Given the description of an element on the screen output the (x, y) to click on. 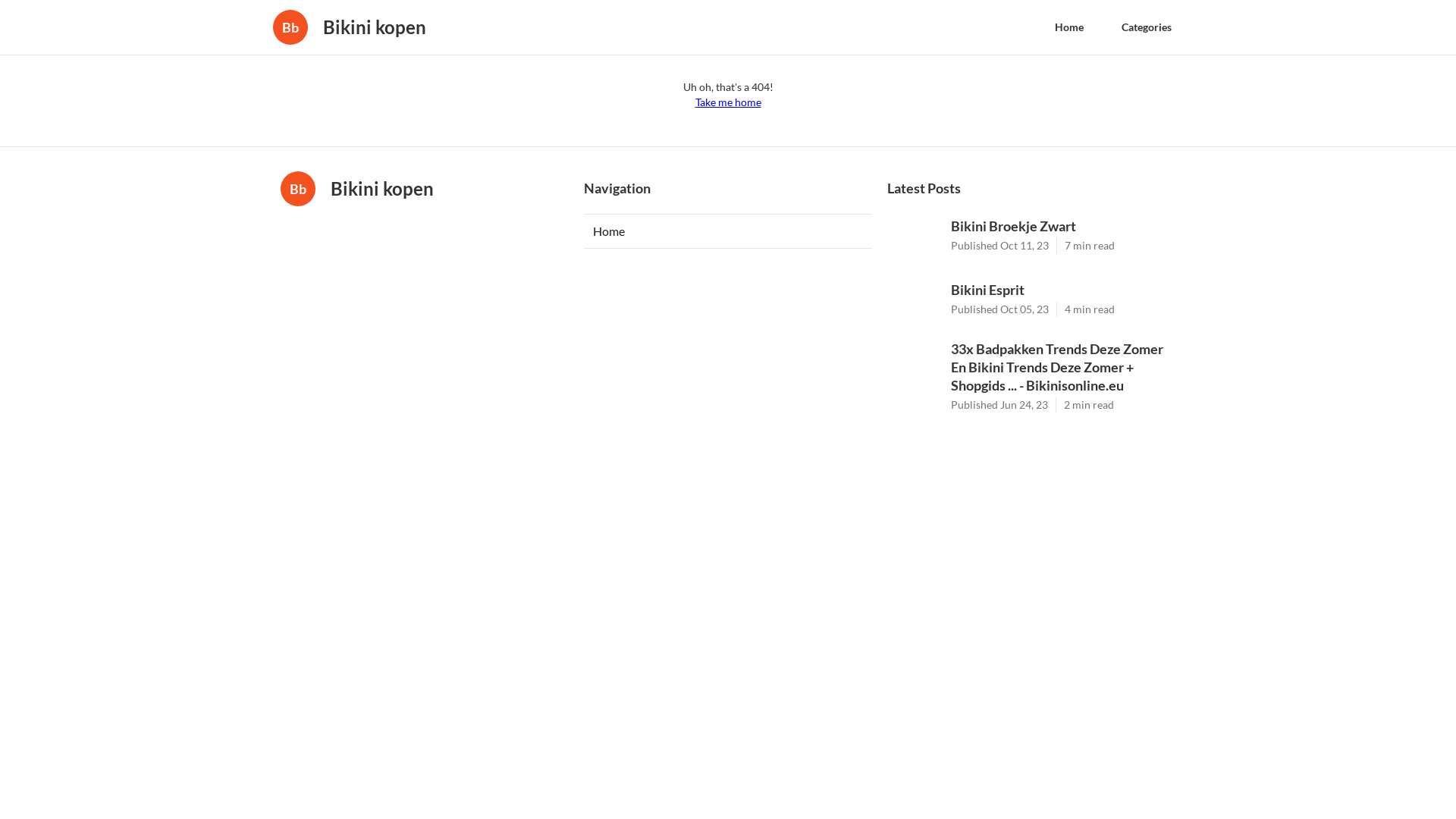
Home Element type: text (727, 230)
Home Element type: text (1069, 26)
Take me home Element type: text (727, 101)
Bikini Esprit Element type: text (1062, 289)
Categories Element type: text (1146, 26)
Bikini Broekje Zwart Element type: text (1062, 225)
